Given the description of an element on the screen output the (x, y) to click on. 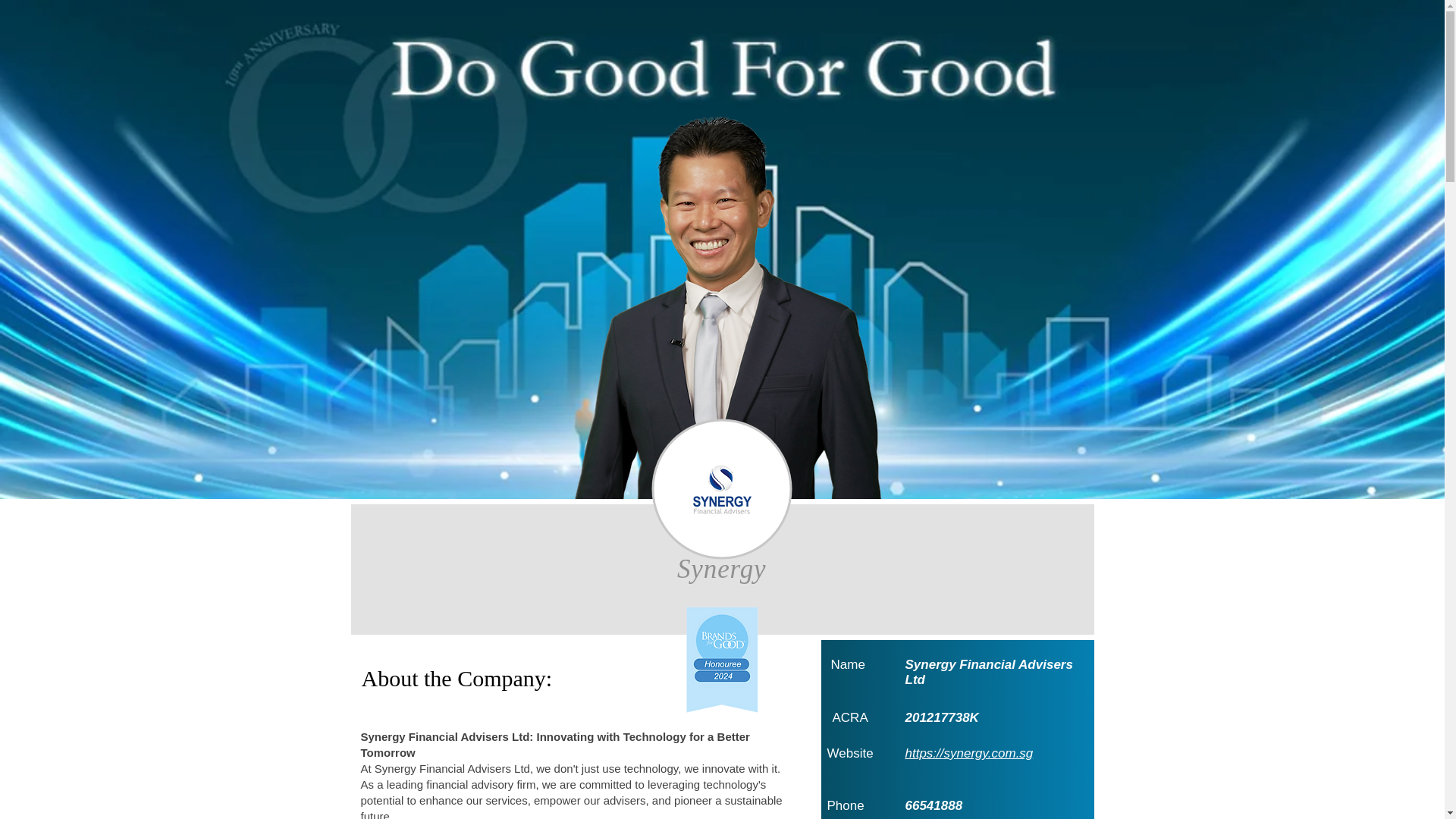
Synergy (721, 569)
Synergy vertical logo.png (721, 492)
